Given the description of an element on the screen output the (x, y) to click on. 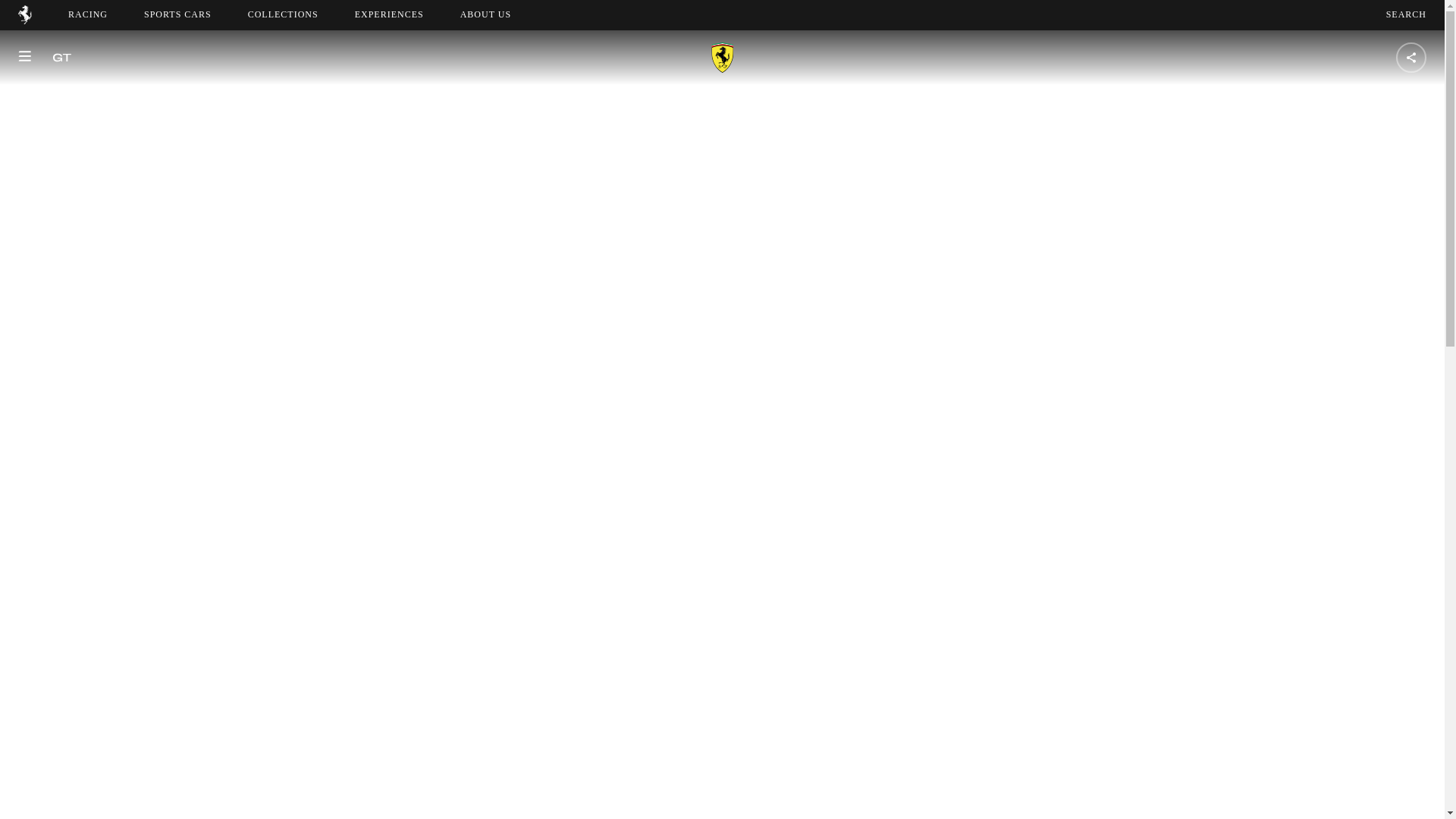
COLLECTIONS (282, 14)
RACING (87, 14)
ABOUT US (485, 14)
EXPERIENCES (499, 14)
SPORTS CARS (389, 14)
SEARCH (177, 14)
Ferrari logo (1406, 14)
